Given the description of an element on the screen output the (x, y) to click on. 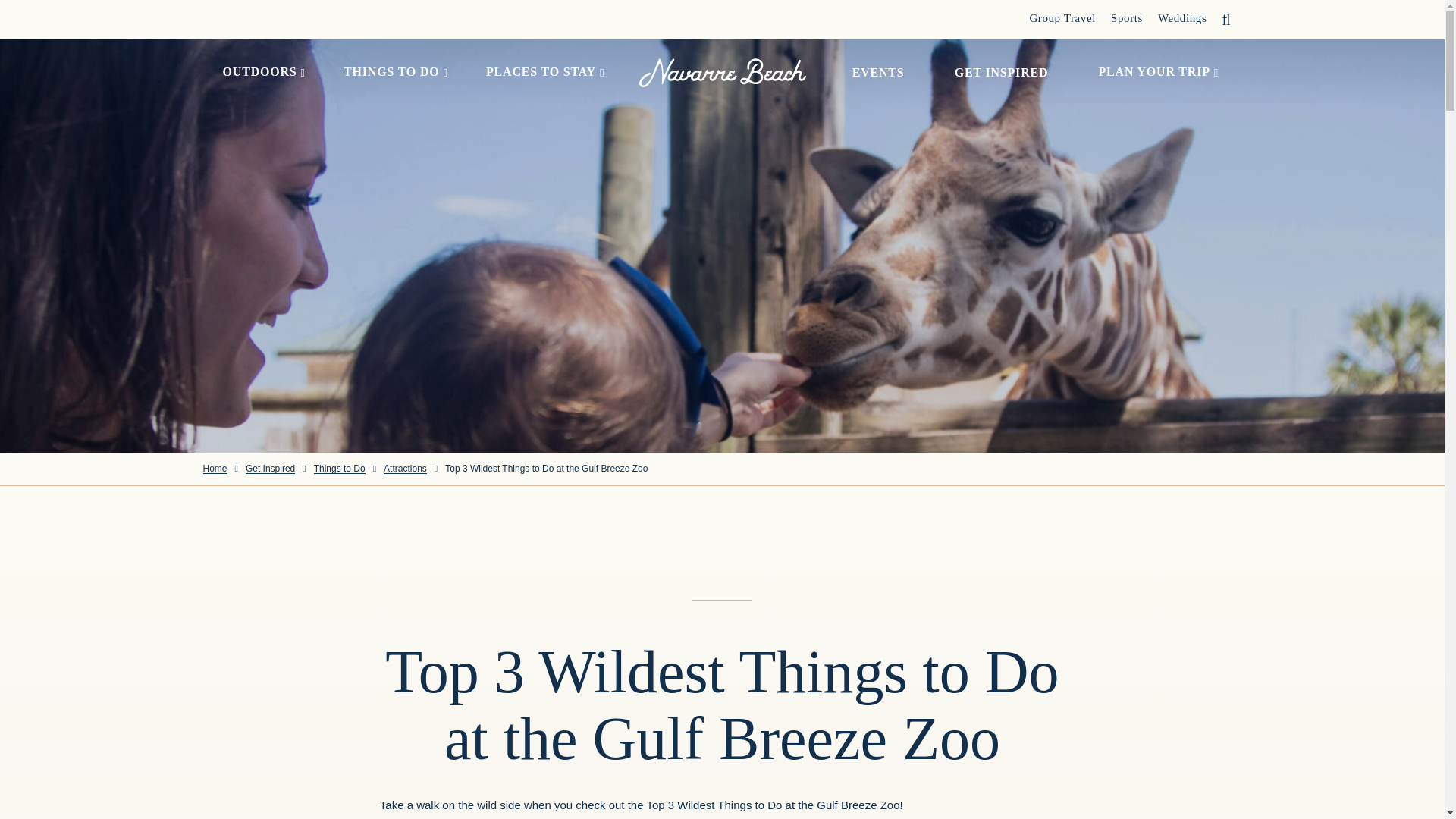
EVENTS (877, 71)
OUTDOORS (259, 72)
Go to the Attractions category archives. (405, 468)
Go to the Things to Do category archives. (339, 468)
GET INSPIRED (1001, 71)
Weddings (1182, 18)
THINGS TO DO (391, 72)
Go to Navarre Beach. (215, 468)
Navarre Beach (722, 72)
Sports (1126, 18)
PLACES TO STAY (540, 72)
Go to Get Inspired. (270, 468)
Group Travel (1062, 18)
PLAN YOUR TRIP (1154, 72)
